Given the description of an element on the screen output the (x, y) to click on. 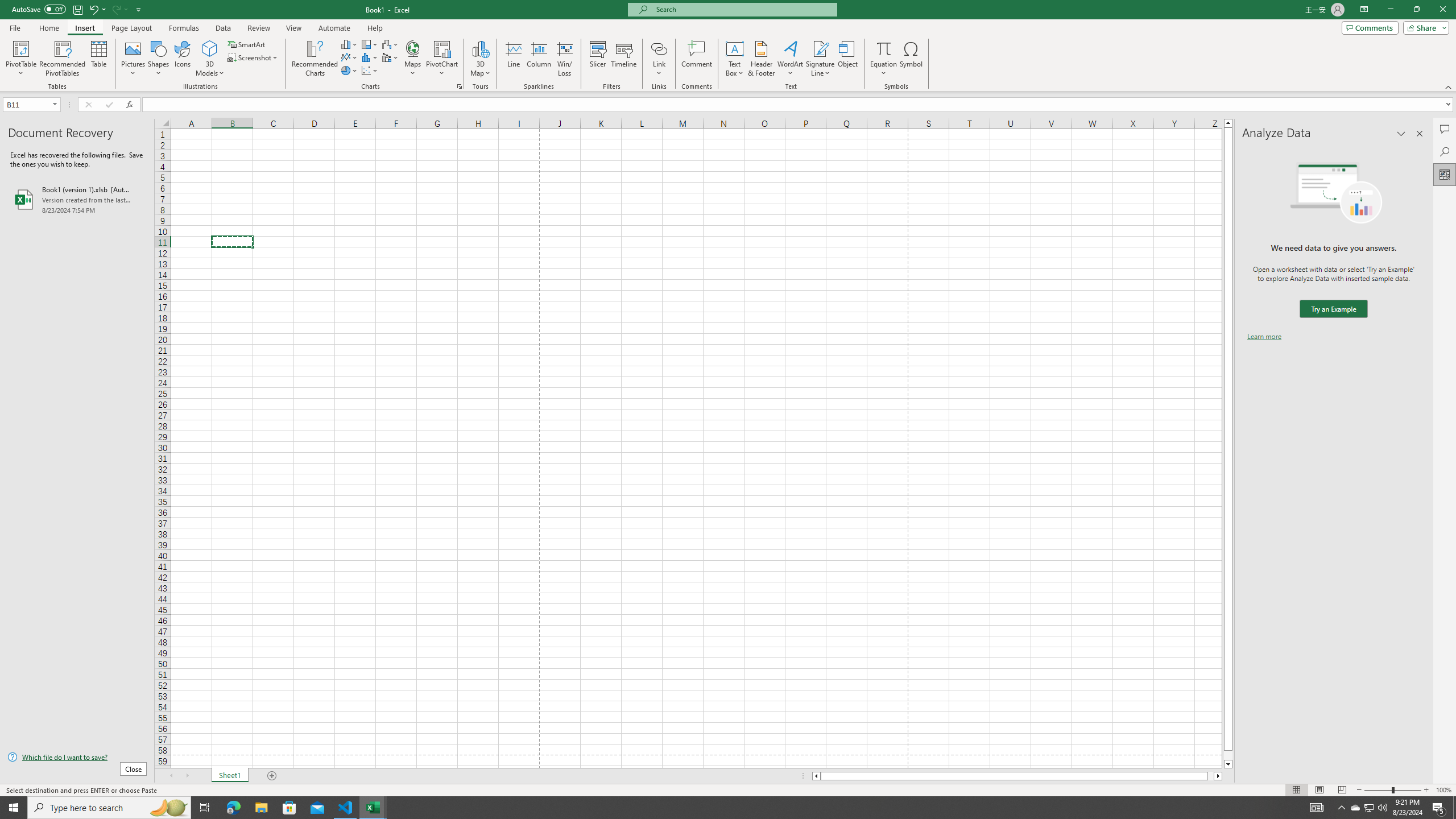
WordArt (790, 58)
Header & Footer... (761, 58)
Win/Loss (564, 58)
Screenshot (253, 56)
Equation (883, 48)
Text Box (734, 58)
